Given the description of an element on the screen output the (x, y) to click on. 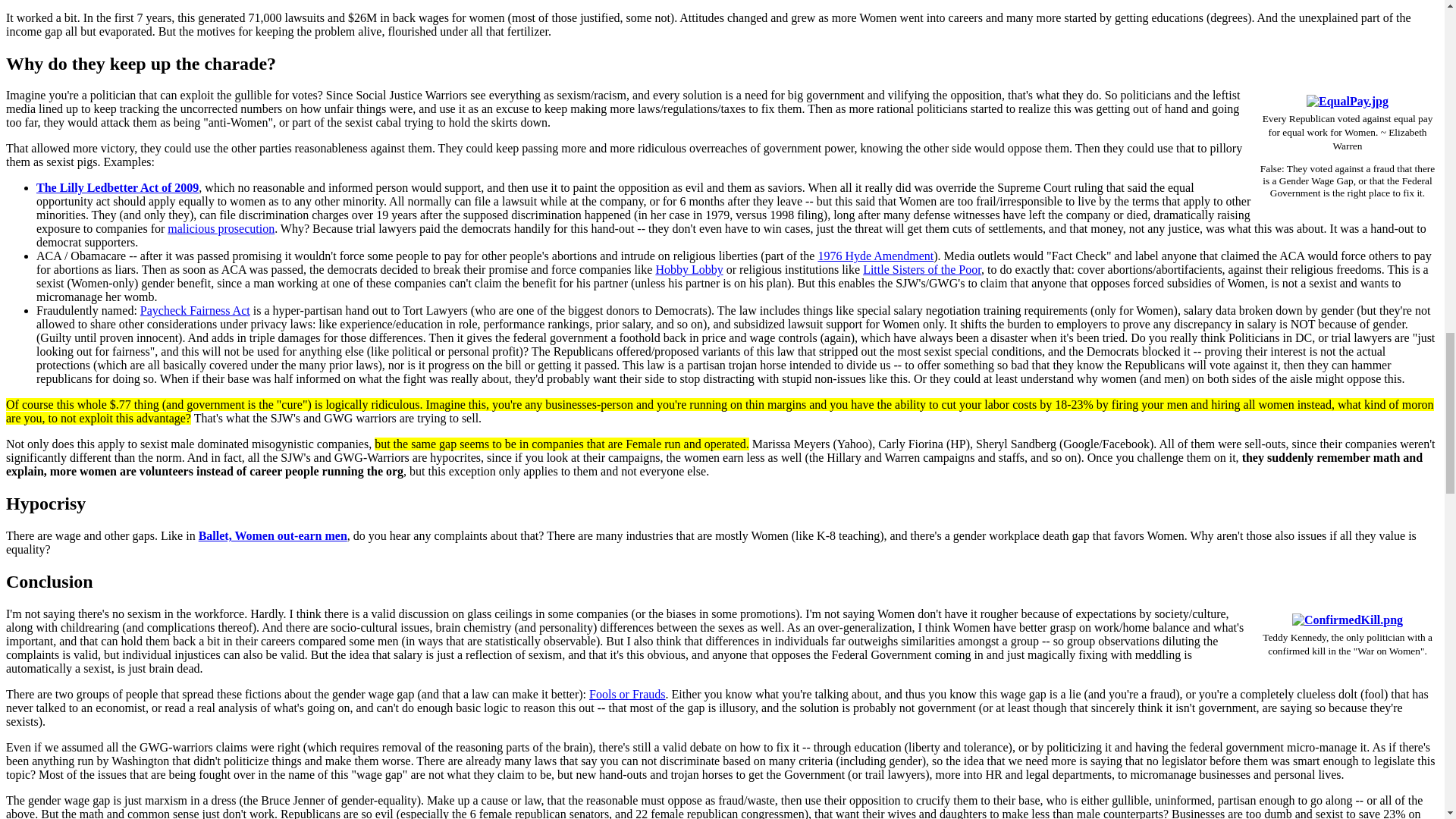
File:EqualPay.jpg (1347, 101)
Fool or Fraud (627, 694)
wikipedia:Hyde Amendment (874, 255)
wikipedia:Burwell v. Hobby Lobby Stores, Inc. (688, 269)
wikipedia:Malicious prosecution (221, 228)
File:ConfirmedKill.png (1347, 619)
wikipedia:Lilly Ledbetter Fair Pay Act of 2009 (117, 187)
